Given the description of an element on the screen output the (x, y) to click on. 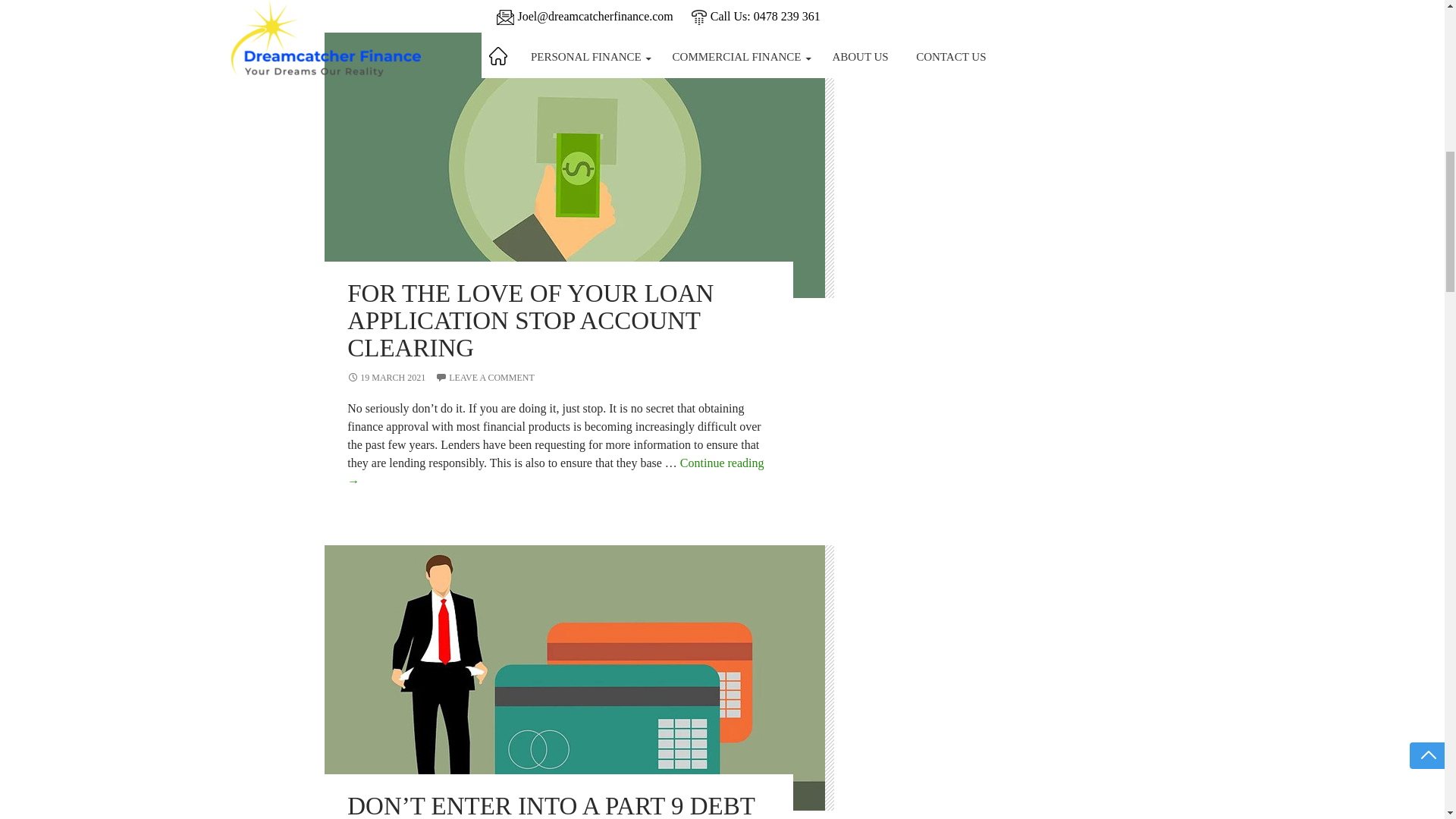
19 MARCH 2021 (386, 377)
FOR THE LOVE OF YOUR LOAN APPLICATION STOP ACCOUNT CLEARING (530, 320)
LEAVE A COMMENT (484, 377)
